Given the description of an element on the screen output the (x, y) to click on. 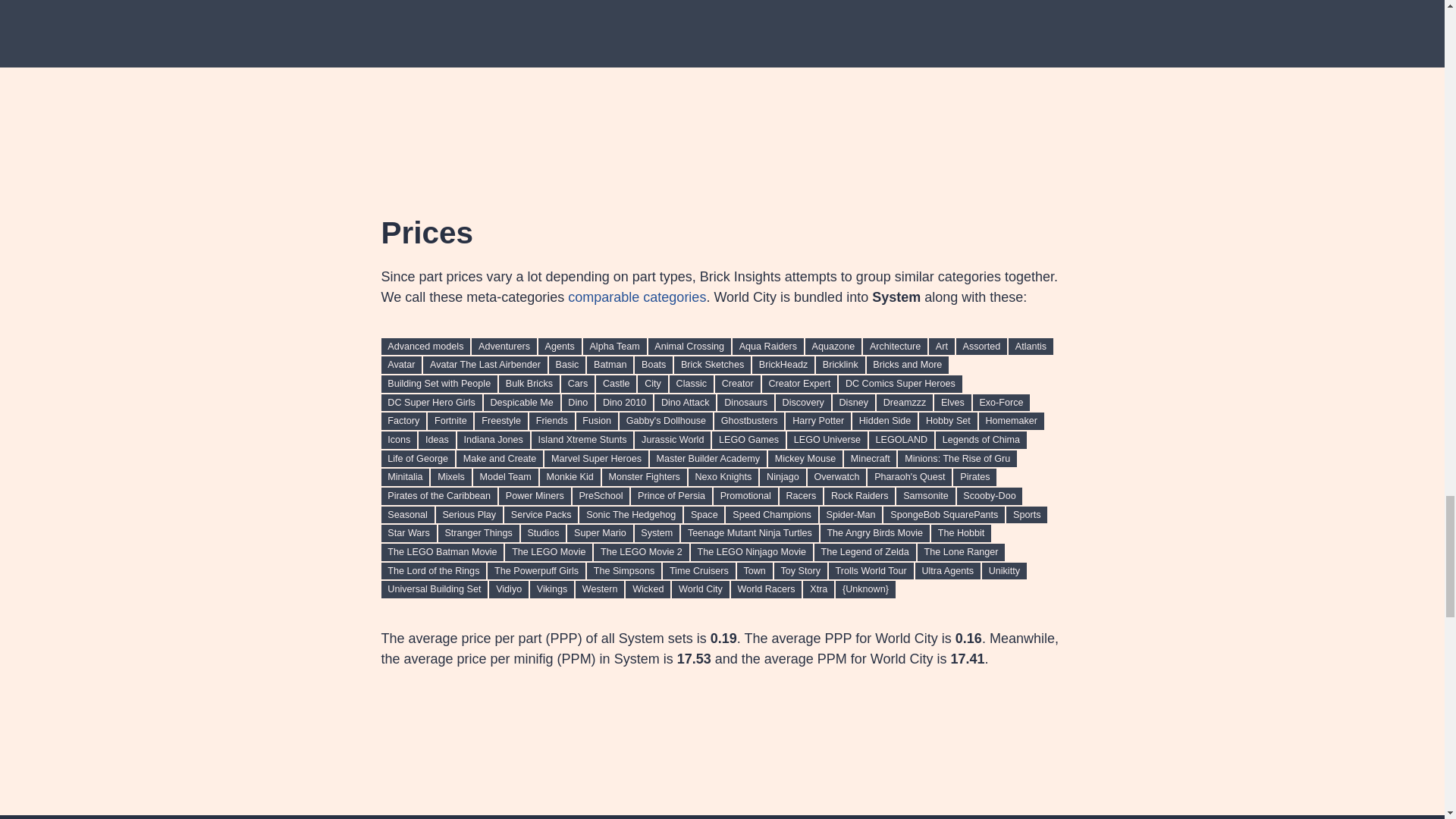
Aquazone (833, 346)
Assorted (981, 346)
Architecture (895, 346)
comparable categories (636, 296)
Basic (566, 364)
Aqua Raiders (767, 346)
Art (941, 346)
Adventurers (504, 346)
Alpha Team (614, 346)
Agents (559, 346)
Animal Crossing (688, 346)
Avatar The Last Airbender (485, 364)
Avatar (401, 364)
Advanced models (425, 346)
Atlantis (1030, 346)
